Given the description of an element on the screen output the (x, y) to click on. 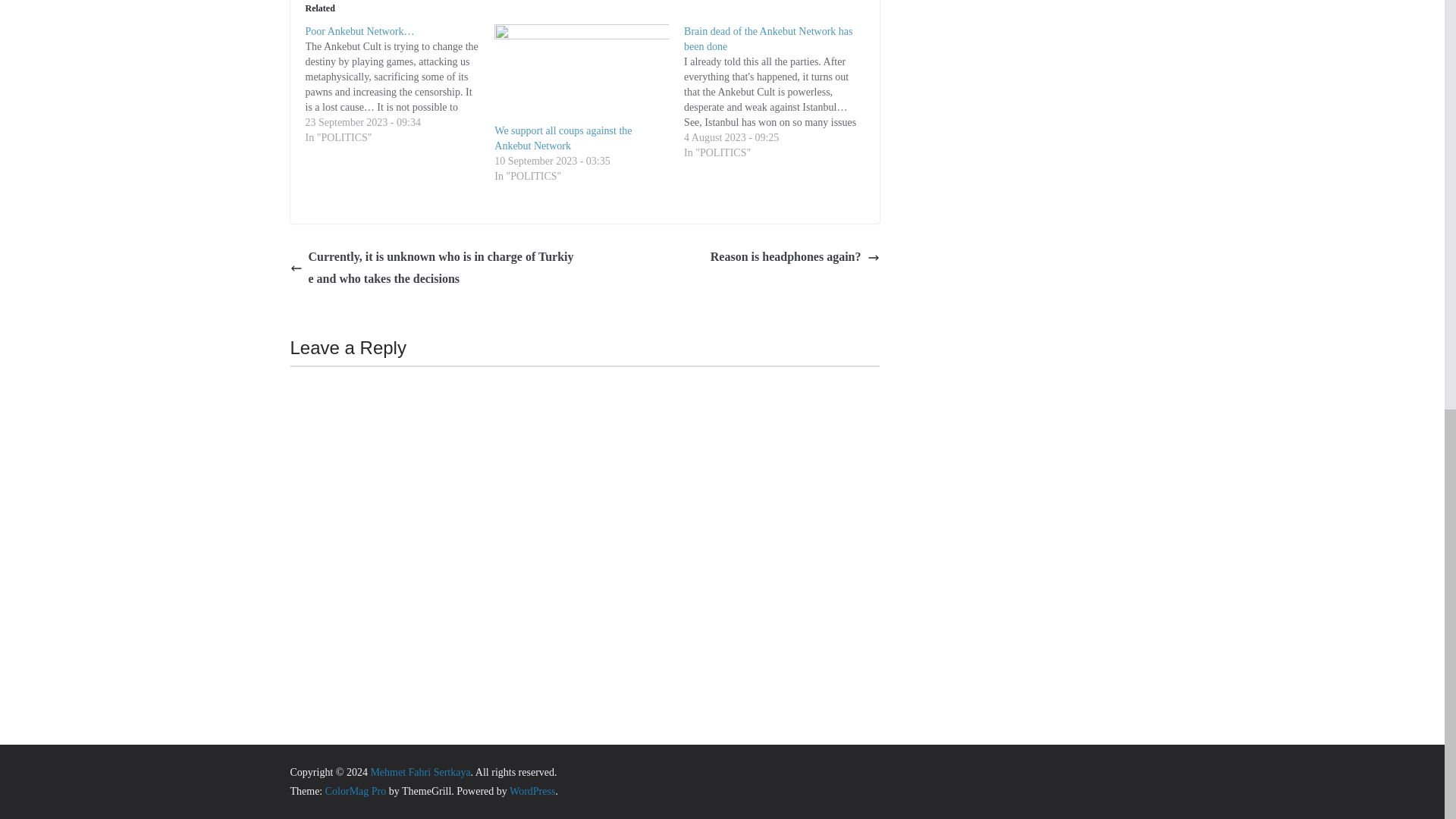
We support all coups against the Ankebut Network (563, 138)
Reason is headphones again? (794, 257)
Brain dead of the Ankebut Network has been done (767, 38)
